Given the description of an element on the screen output the (x, y) to click on. 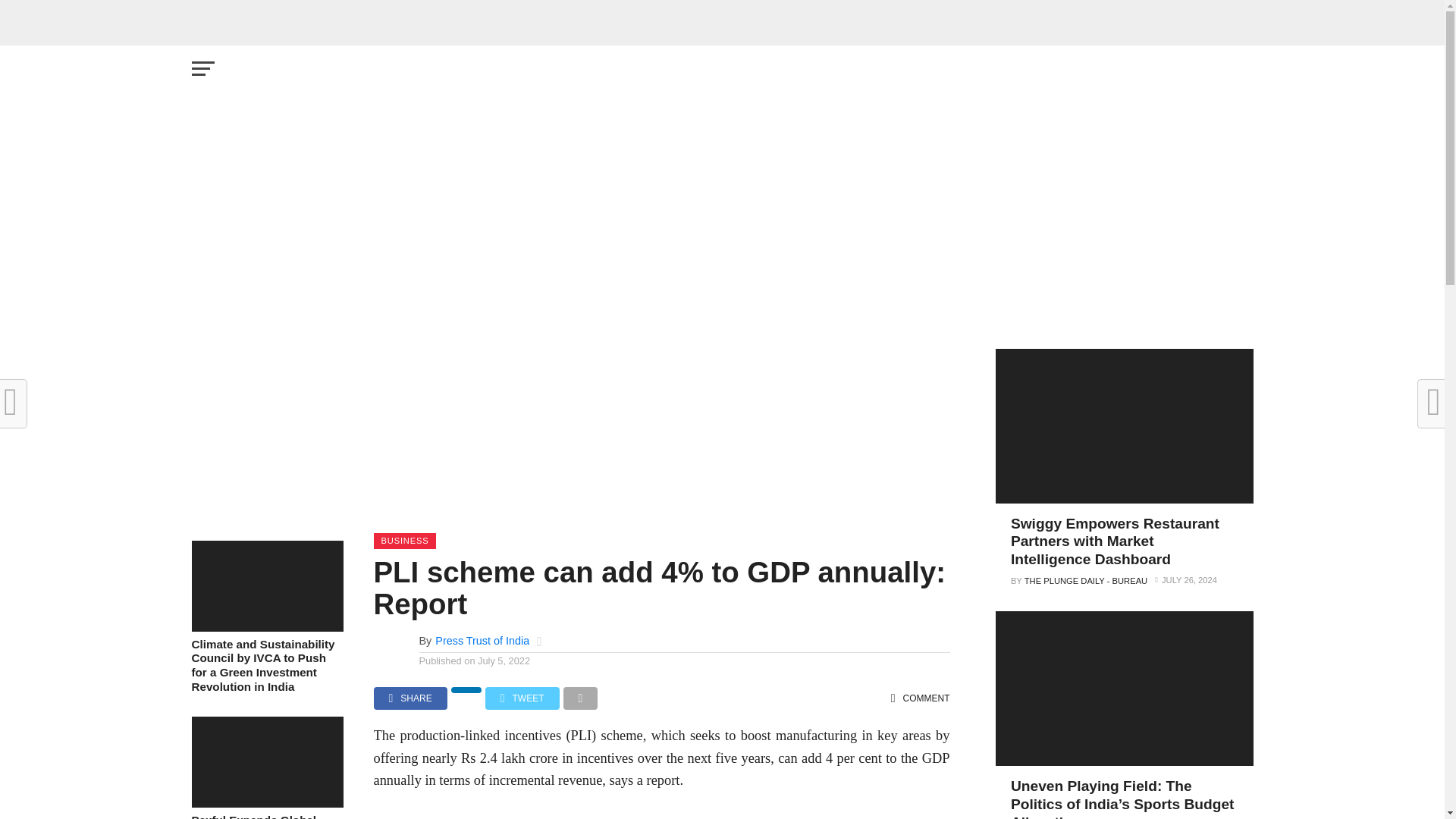
Posts by Press Trust of India (482, 640)
Posts by The Plunge Daily - Bureau (1086, 580)
Press Trust of India (482, 640)
